Given the description of an element on the screen output the (x, y) to click on. 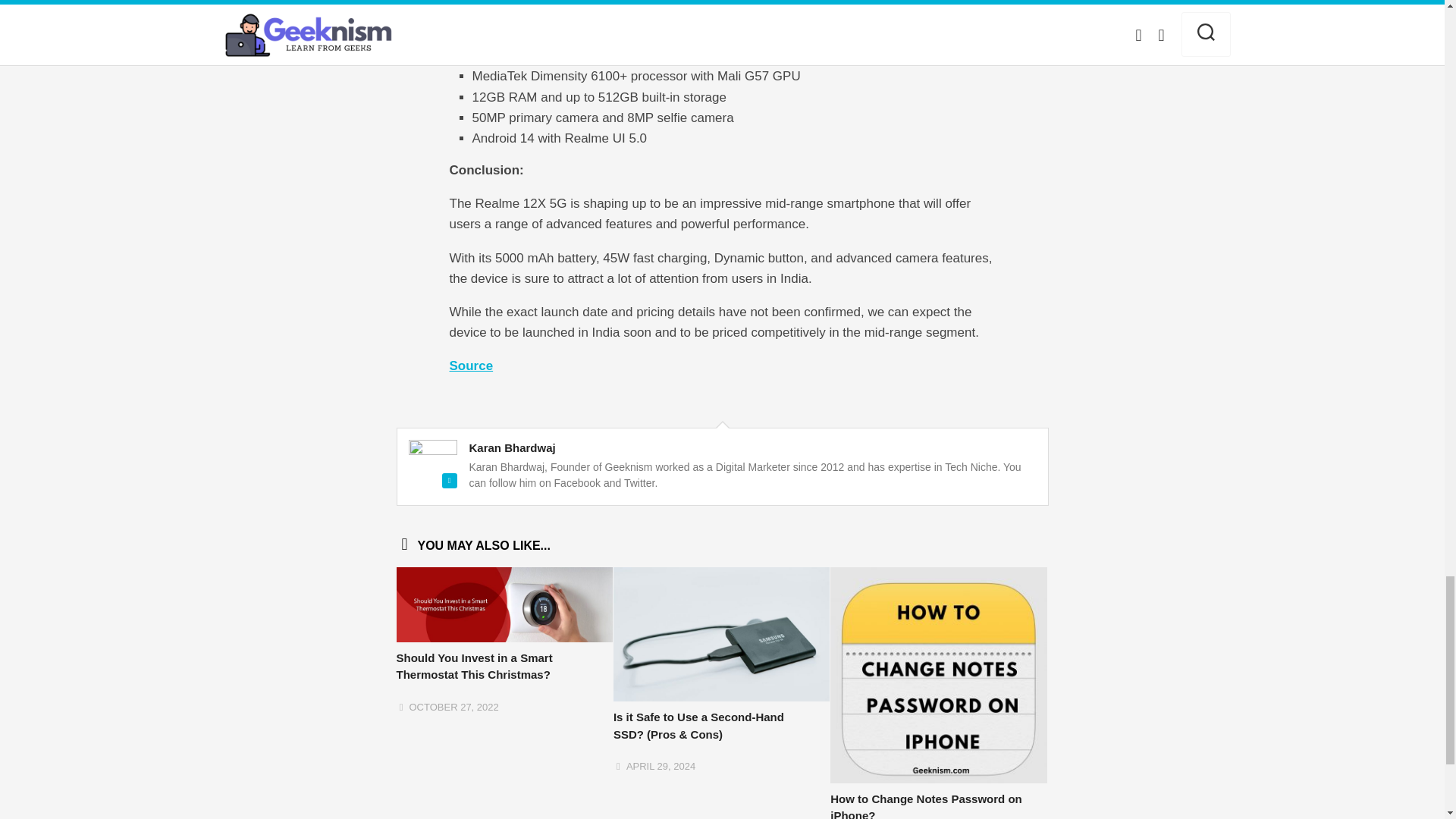
How to Change Notes Password on iPhone? (925, 805)
Should You Invest in a Smart Thermostat This Christmas? (473, 666)
Source (470, 365)
